Given the description of an element on the screen output the (x, y) to click on. 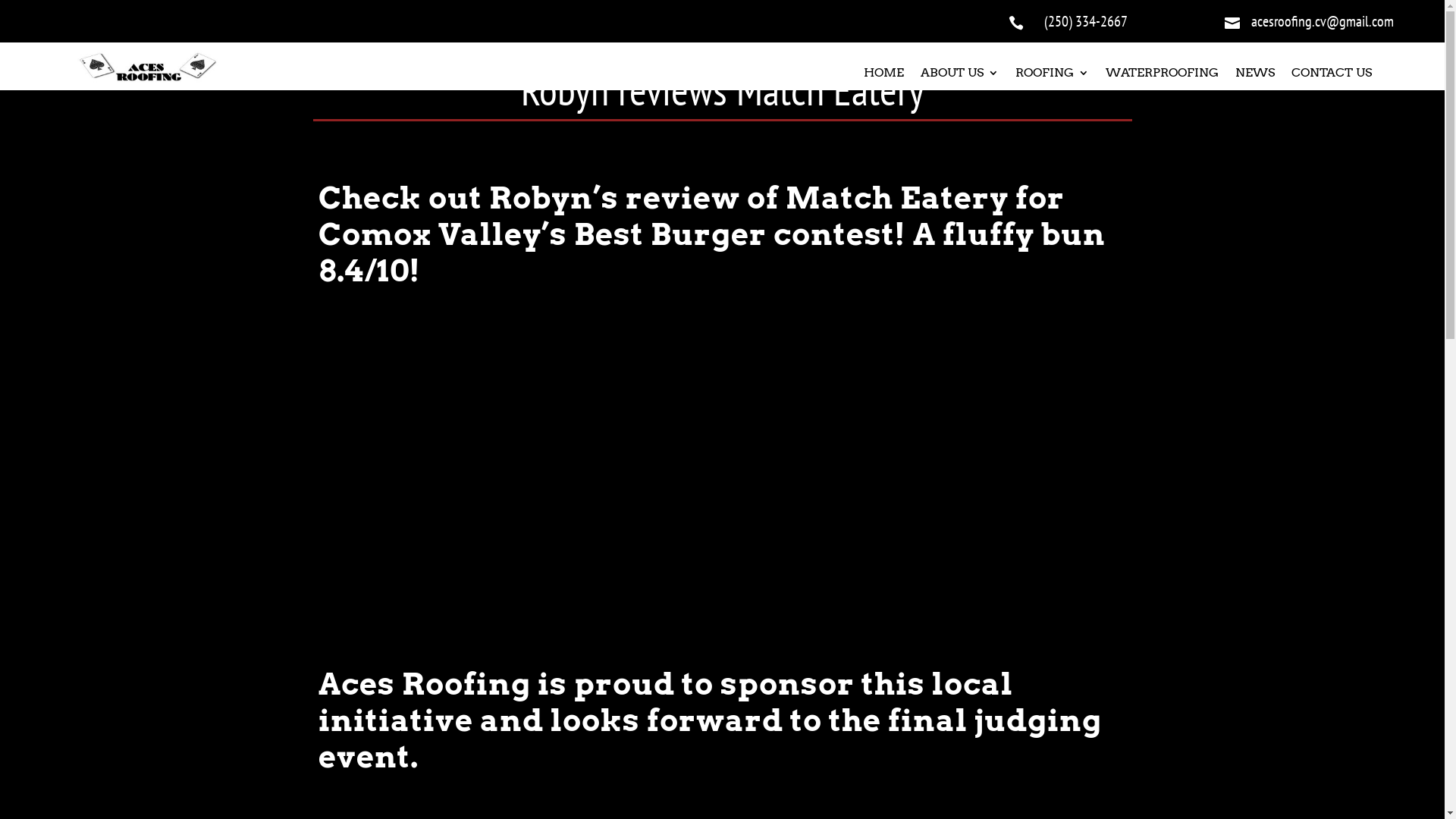
(250) 334-2667 Element type: text (1085, 21)
acesroofing.cv@gmail.com Element type: text (1322, 21)
NEWS Element type: text (1254, 75)
ABOUT US Element type: text (959, 75)
SEND Element type: text (10, 0)
WATERPROOFING Element type: text (1161, 75)
aces_favicon Element type: hover (148, 66)
HOME Element type: text (883, 75)
ROOFING Element type: text (1051, 75)
CONTACT US Element type: text (1331, 75)
